Given the description of an element on the screen output the (x, y) to click on. 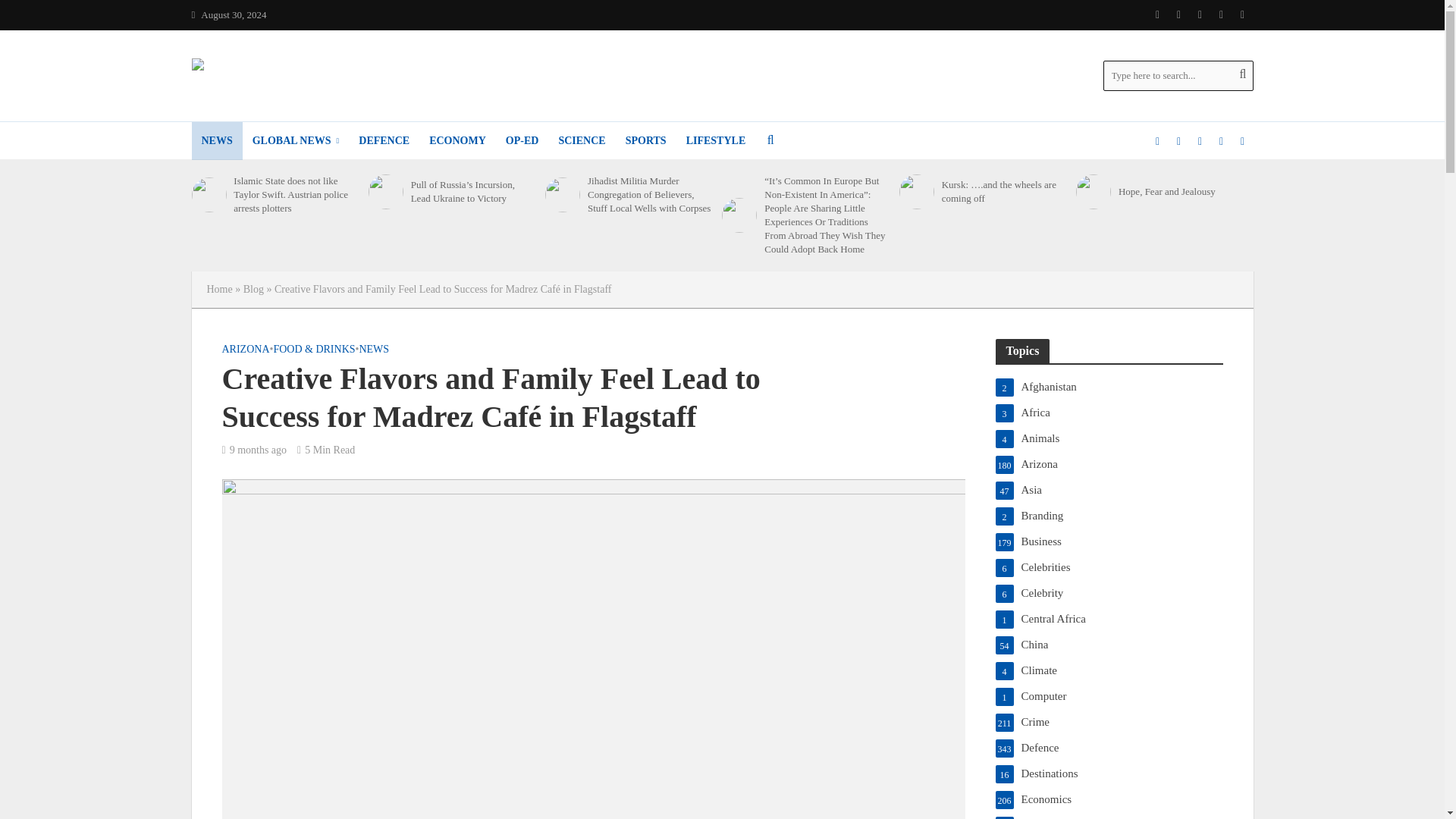
GLOBAL NEWS (296, 140)
Hope, Fear and Jealousy (1092, 191)
NEWS (215, 140)
